Given the description of an element on the screen output the (x, y) to click on. 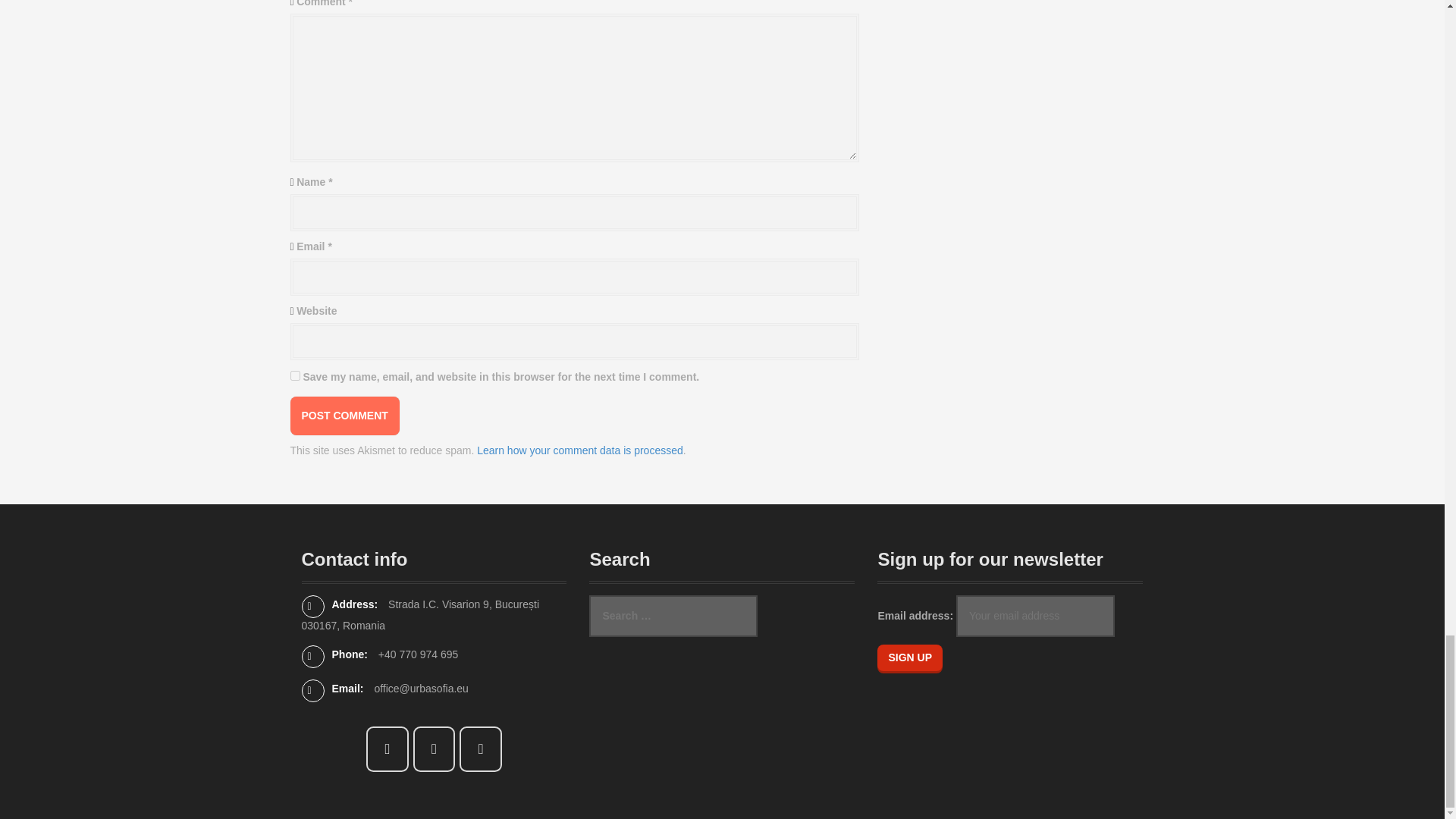
Sign up (909, 657)
Urbasofia on Instagram (434, 749)
Search for: (673, 616)
yes (294, 375)
Post Comment (343, 415)
Urbasofia on Linkedin (481, 749)
Urbasofia on Facebook (387, 749)
